Given the description of an element on the screen output the (x, y) to click on. 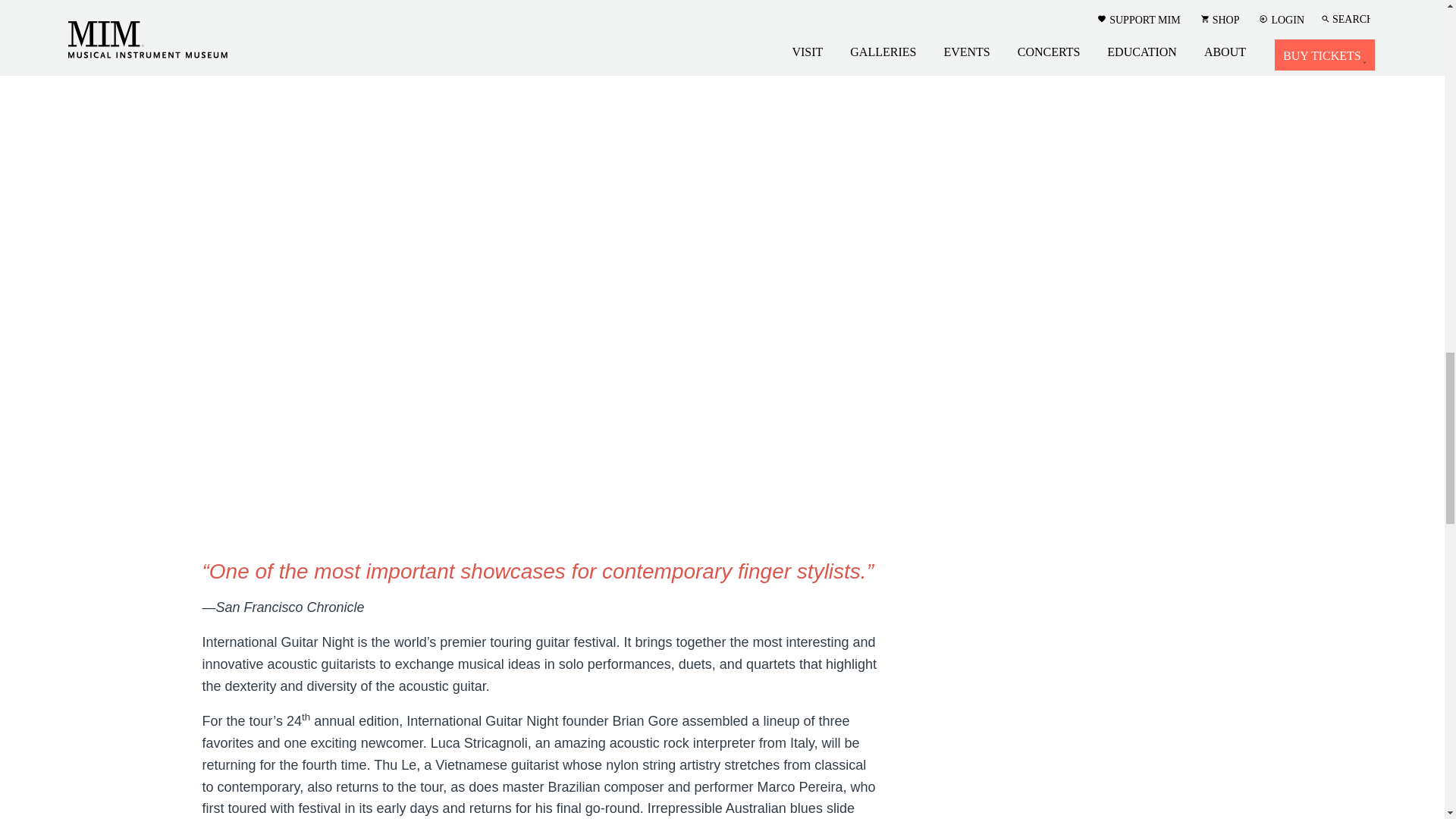
MARCO PEREIRA - BRAZILIAN RHYTHMS (539, 74)
